Given the description of an element on the screen output the (x, y) to click on. 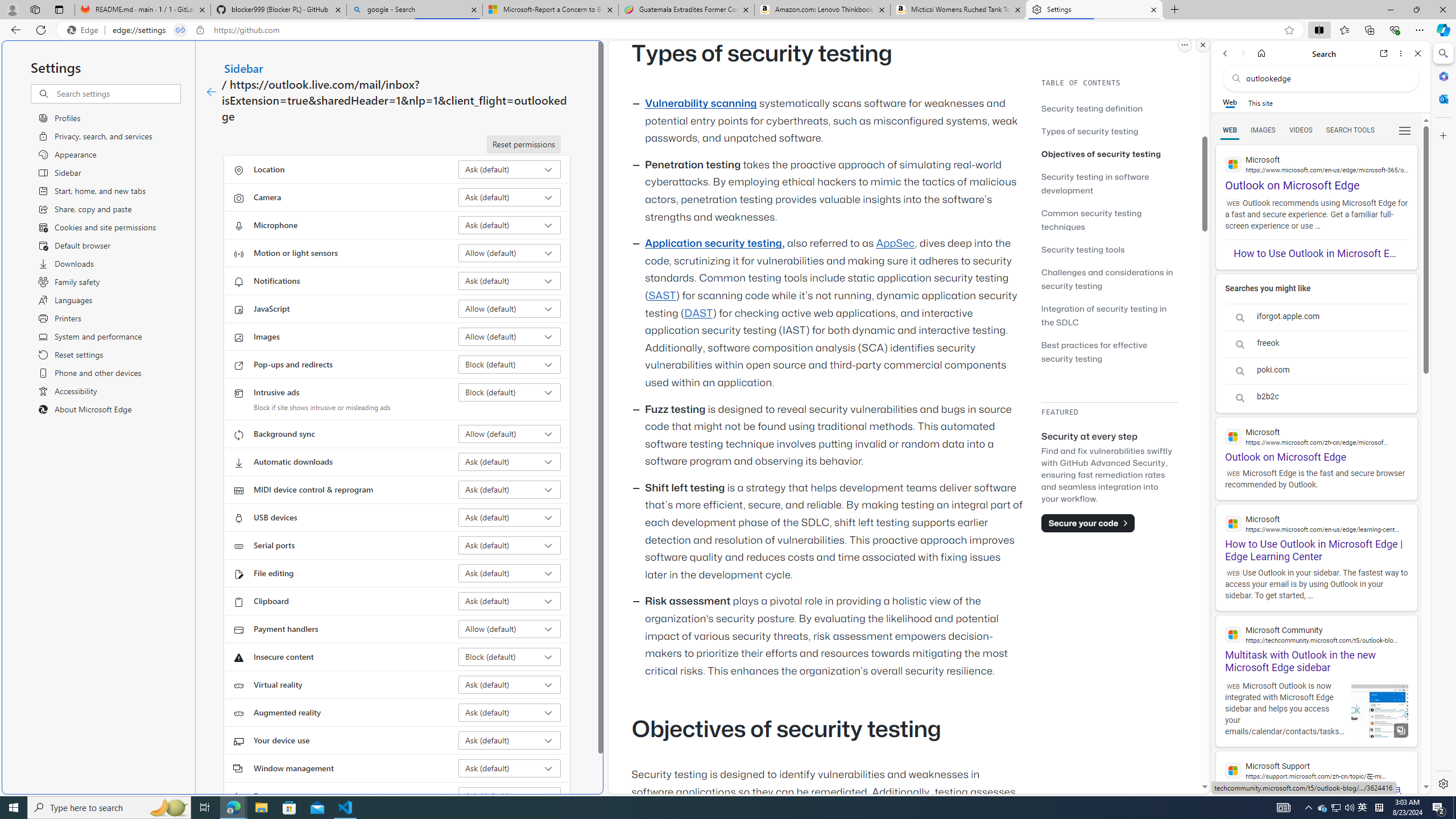
Types of security testing (1109, 130)
Edge (84, 29)
More options. (1183, 45)
Your device use Ask (default) (509, 740)
DAST (698, 312)
AppSec (895, 243)
Security testing definition (1091, 108)
Window management Ask (default) (509, 768)
